Given the description of an element on the screen output the (x, y) to click on. 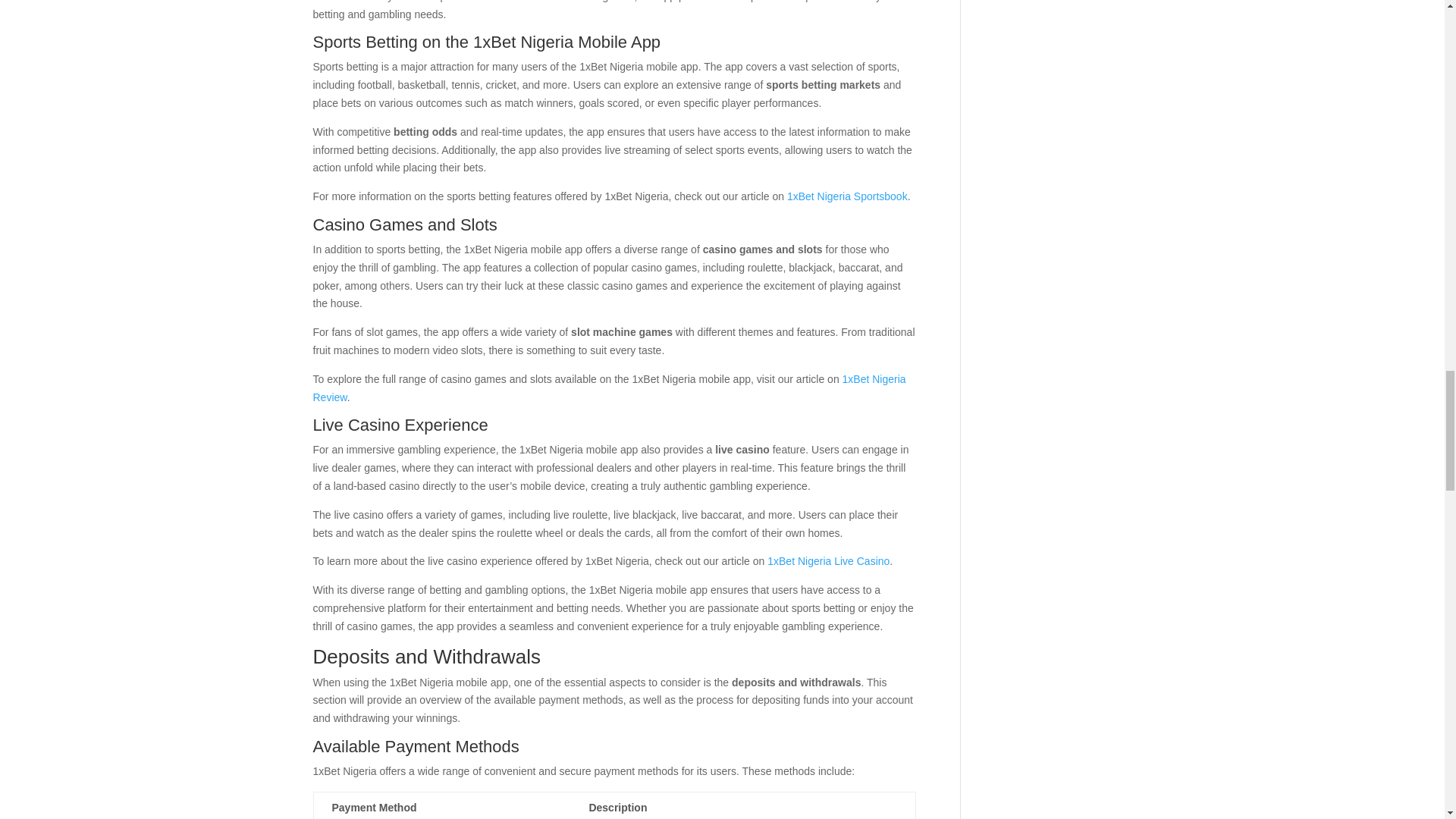
1xBet Nigeria Review (609, 388)
1xBet Nigeria Live Casino (828, 561)
1xBet Nigeria Sportsbook (847, 196)
